Given the description of an element on the screen output the (x, y) to click on. 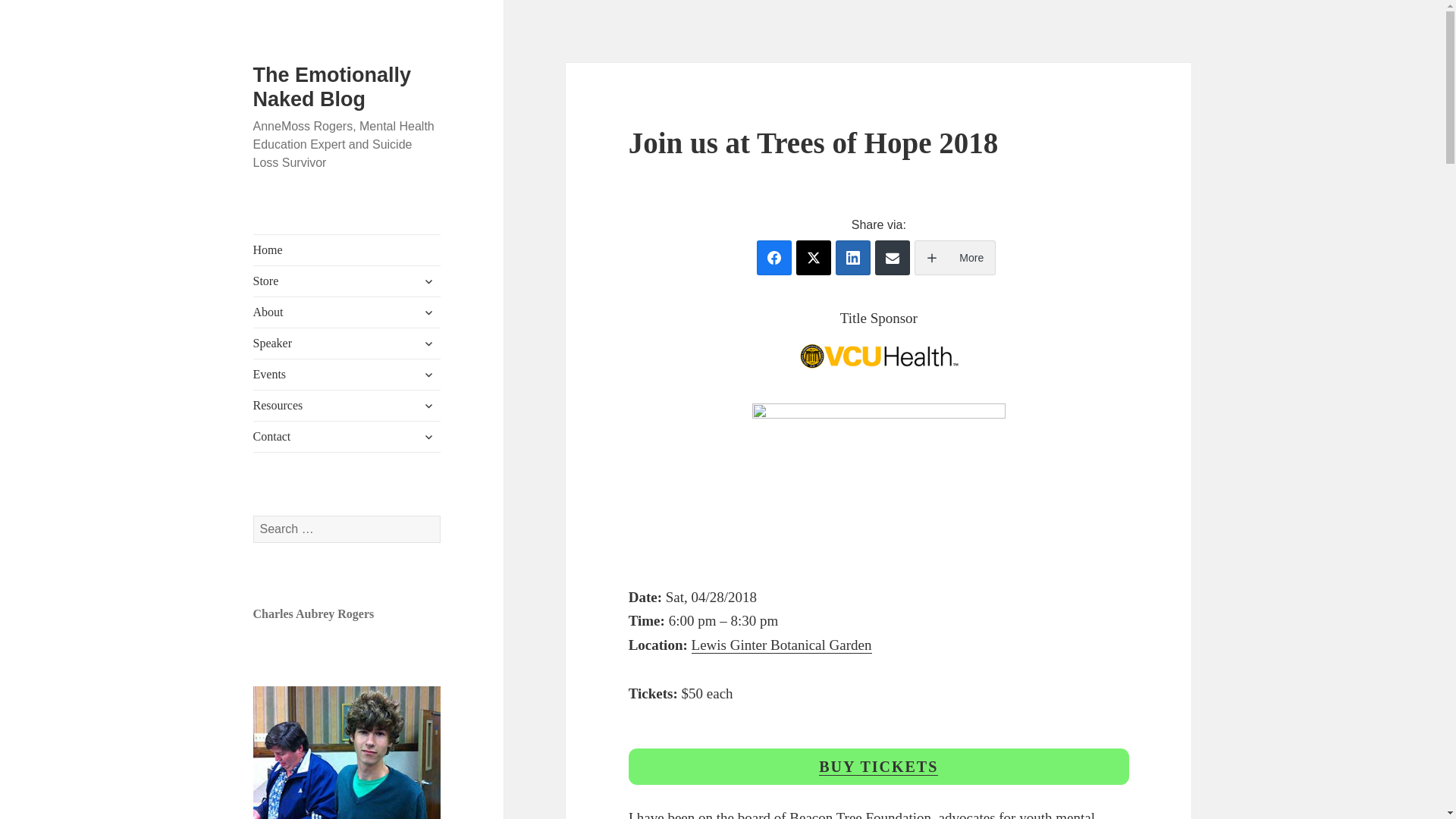
About (347, 312)
Speaker (347, 343)
The Emotionally Naked Blog (332, 86)
Contact (347, 436)
Home (347, 250)
expand child menu (428, 405)
expand child menu (428, 343)
expand child menu (428, 374)
expand child menu (428, 312)
expand child menu (428, 281)
Store (347, 281)
Events (347, 374)
